Given the description of an element on the screen output the (x, y) to click on. 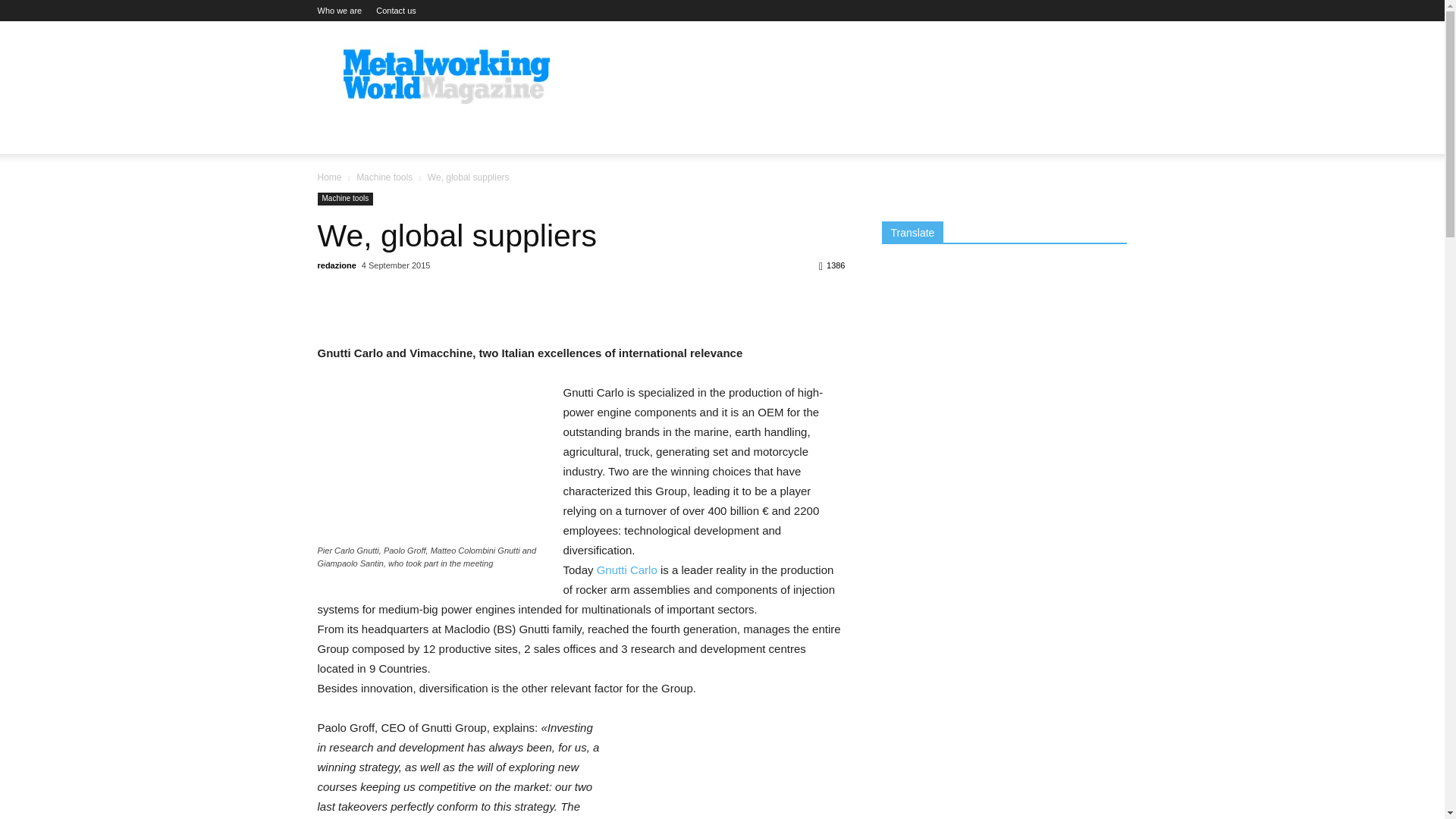
TECHNOLOGIES SPOTLIGHT (873, 135)
Posts by redazione (336, 265)
Machine tools (344, 198)
Who we are (339, 10)
TREATMENTS (742, 135)
MACHINE TOOLS (471, 135)
FOUNDRY (659, 135)
Search (1085, 196)
Contact us (395, 10)
Home (328, 176)
Machine tools (384, 176)
View all posts in Machine tools (384, 176)
SHEET METAL (575, 135)
Gnutti Carlo (627, 569)
redazione (336, 265)
